Given the description of an element on the screen output the (x, y) to click on. 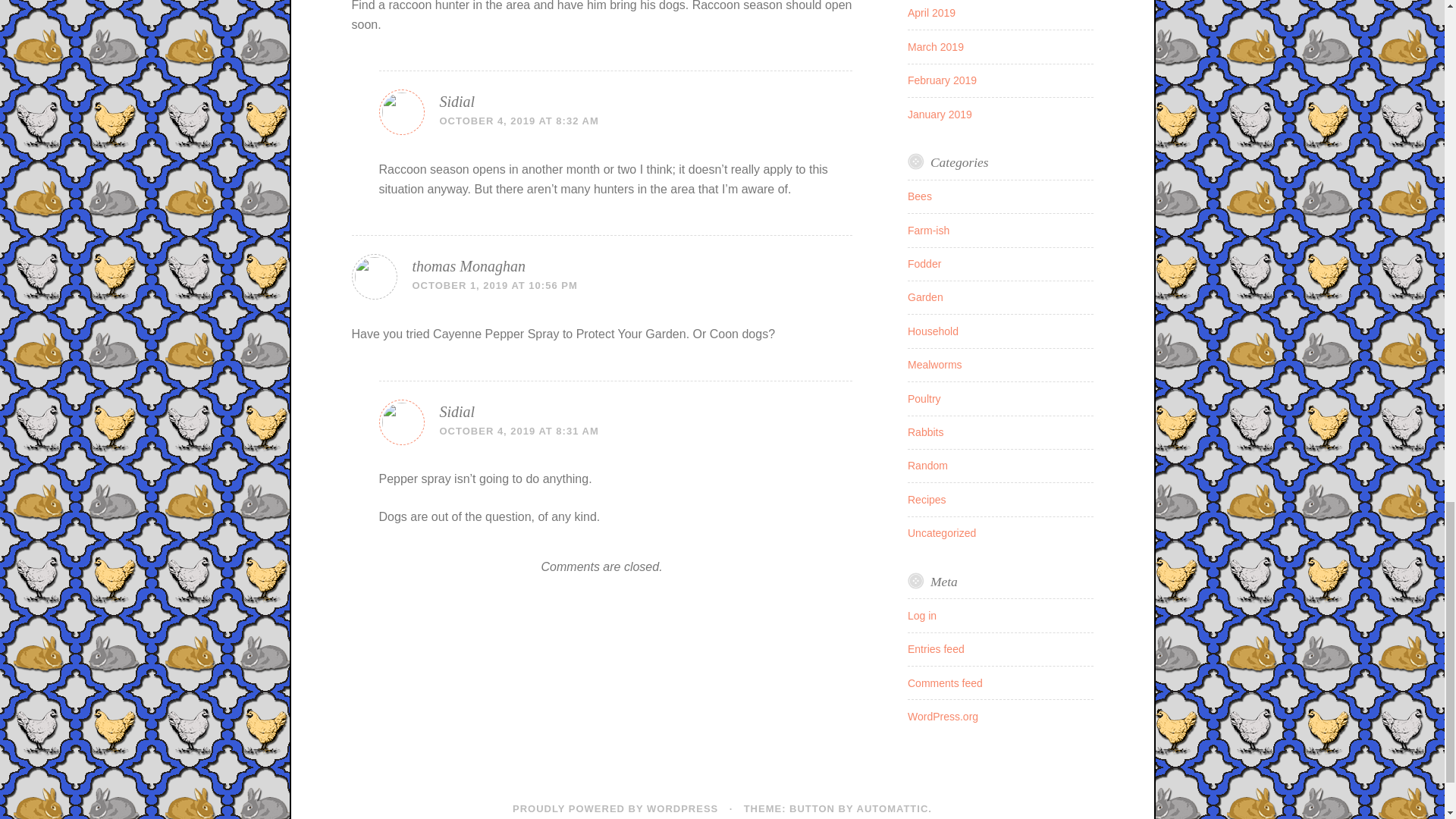
OCTOBER 4, 2019 AT 8:32 AM (518, 120)
OCTOBER 4, 2019 AT 8:31 AM (518, 430)
OCTOBER 1, 2019 AT 10:56 PM (495, 285)
